Given the description of an element on the screen output the (x, y) to click on. 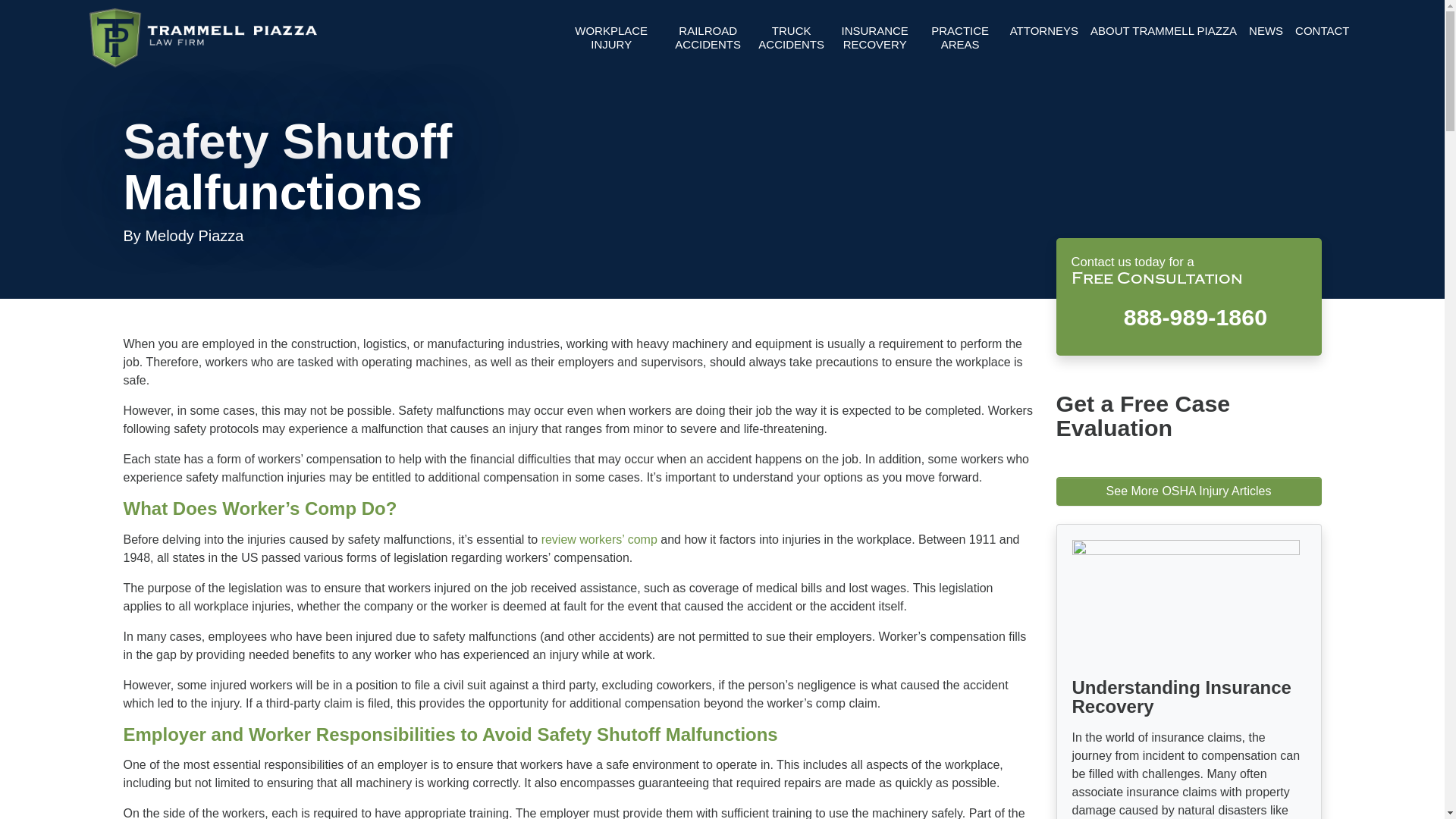
INSURANCE RECOVERY (874, 38)
ABOUT TRAMMELL PIAZZA (1163, 31)
PRACTICE AREAS (960, 38)
WORKPLACE INJURY (611, 38)
TRUCK ACCIDENTS (790, 38)
CONTACT (1321, 31)
ATTORNEYS (1044, 31)
888-989-1860 (1188, 316)
See More OSHA Injury Articles (1187, 491)
RAILROAD ACCIDENTS (707, 38)
